Given the description of an element on the screen output the (x, y) to click on. 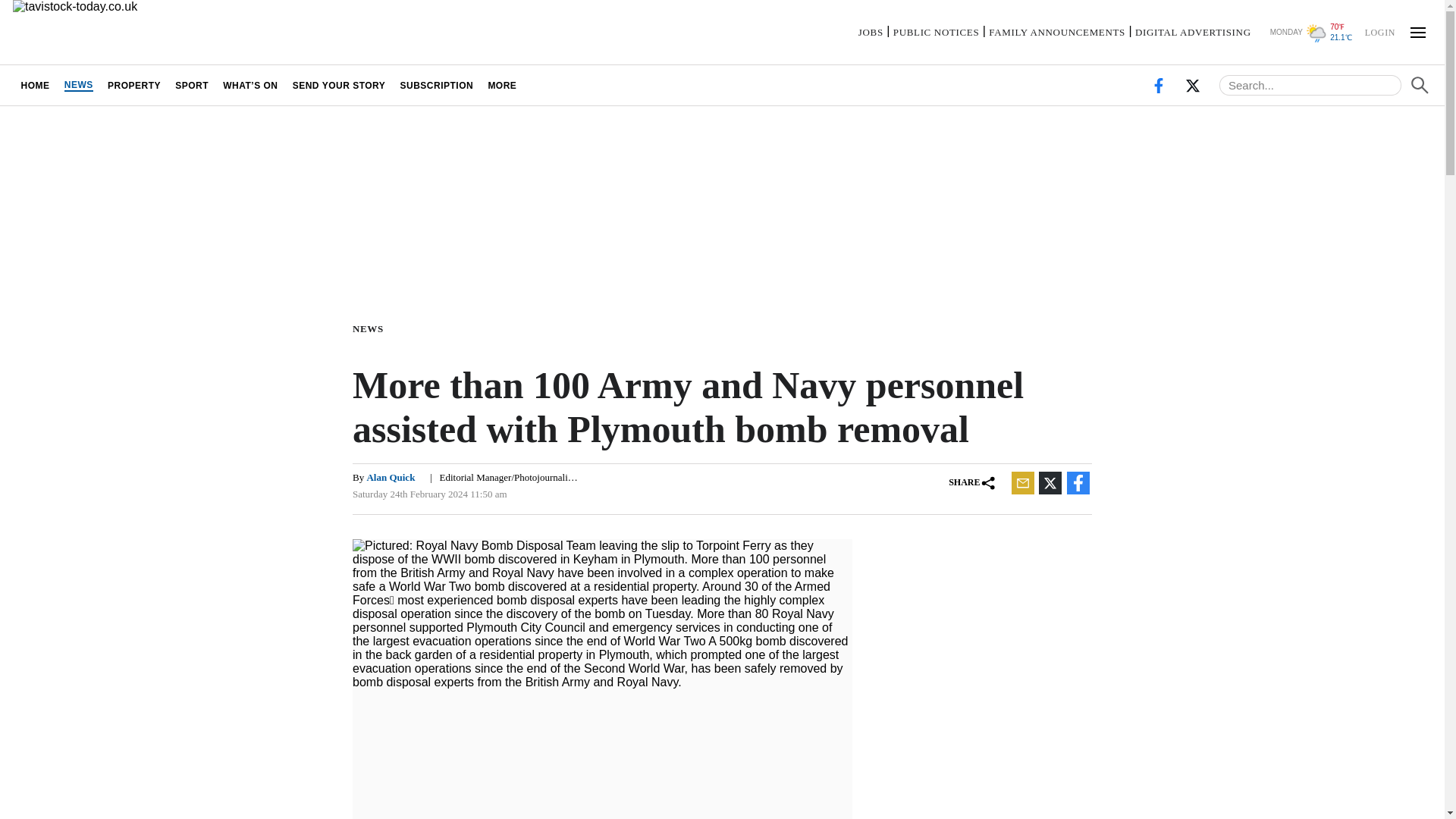
SUBSCRIPTION (436, 85)
NEWS (78, 85)
MORE (502, 85)
SEND YOUR STORY (339, 85)
Alan Quick (390, 477)
HOME (34, 85)
SPORT (191, 85)
NEWS (371, 328)
LOGIN (1379, 31)
DIGITAL ADVERTISING (1192, 32)
PROPERTY (133, 85)
